Given the description of an element on the screen output the (x, y) to click on. 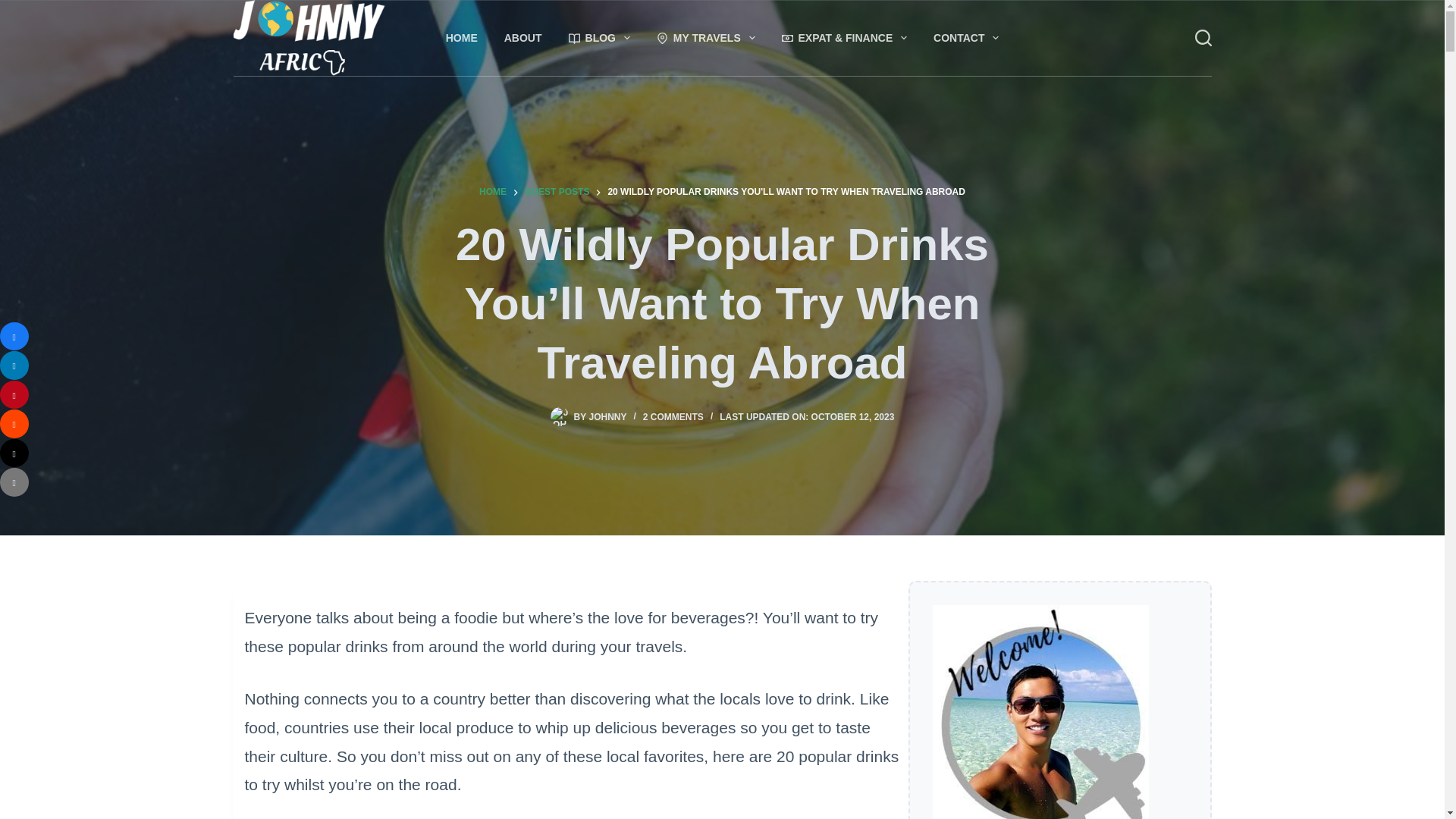
Posts by Johnny (607, 416)
Expatlife (844, 38)
Skip to content (15, 7)
